Given the description of an element on the screen output the (x, y) to click on. 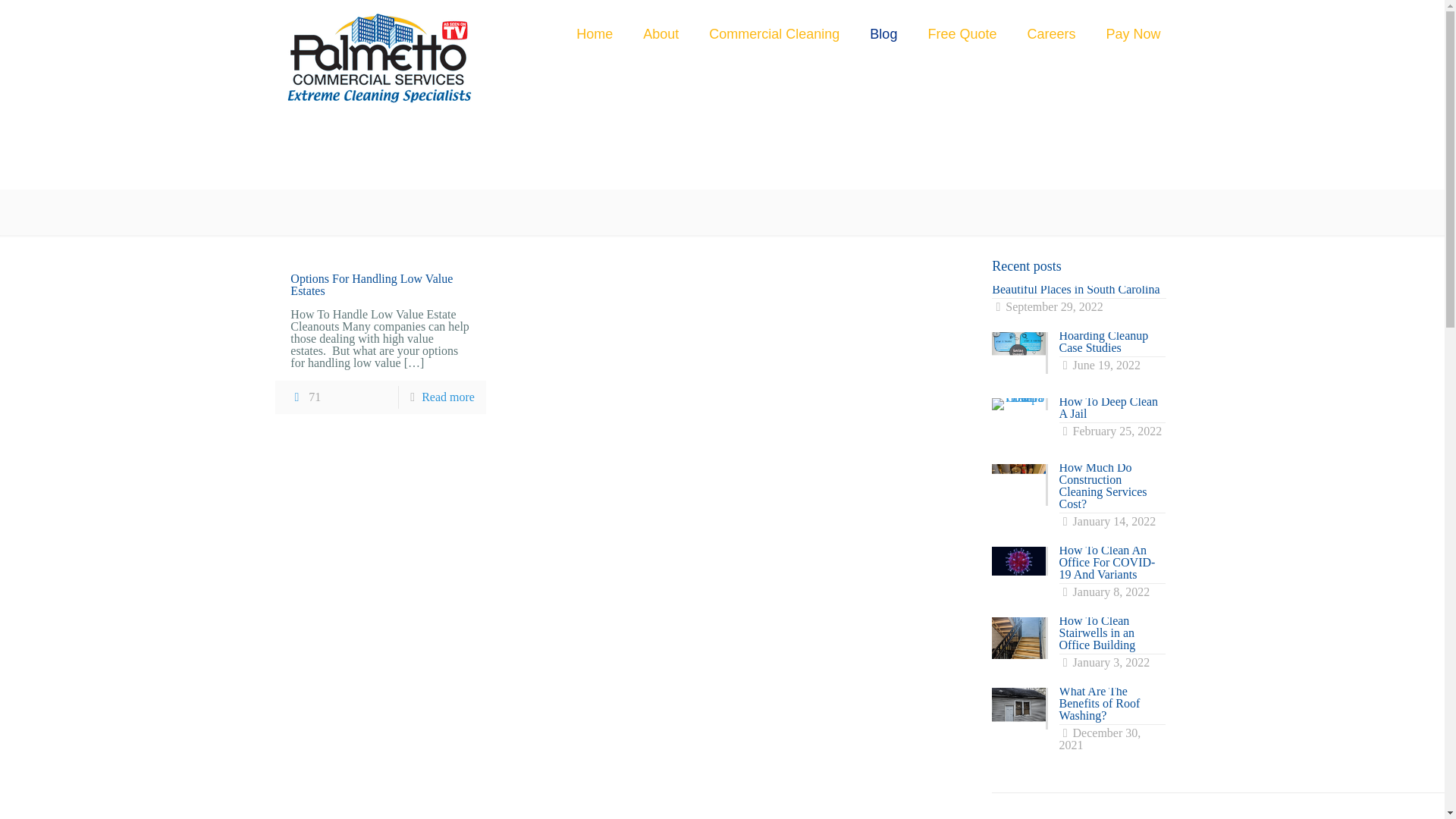
Options For Handling Low Value Estates (370, 284)
Pay Now (1132, 33)
About (660, 33)
71 (304, 396)
Commercial Cleaning (774, 33)
Free Quote (961, 33)
Careers (1083, 299)
